Given the description of an element on the screen output the (x, y) to click on. 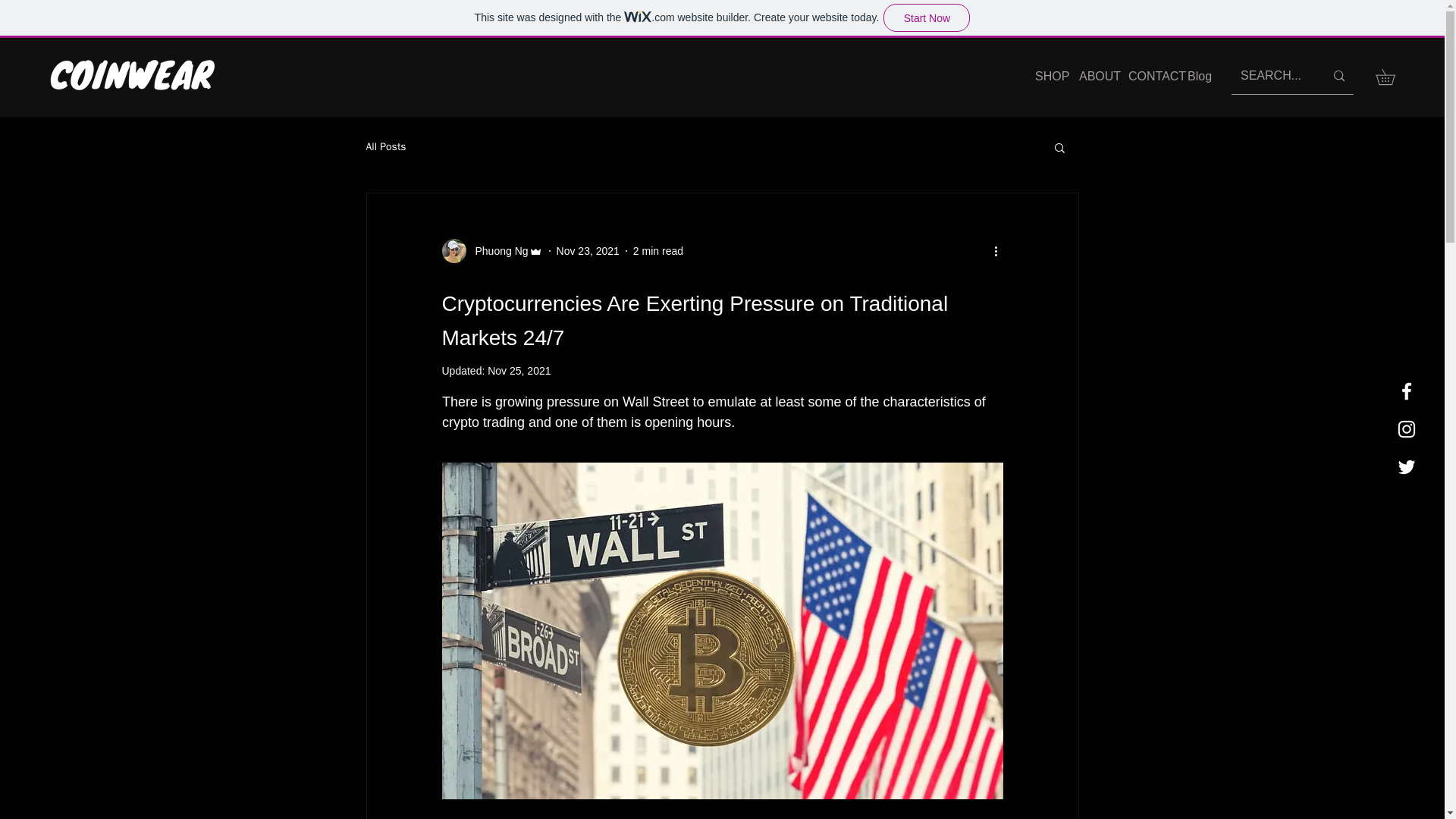
Phuong Ng (491, 250)
Nov 23, 2021 (588, 250)
2 min read (657, 250)
Nov 25, 2021 (518, 370)
 Phuong Ng (496, 251)
All Posts (385, 146)
CONTACT (1146, 76)
